Given the description of an element on the screen output the (x, y) to click on. 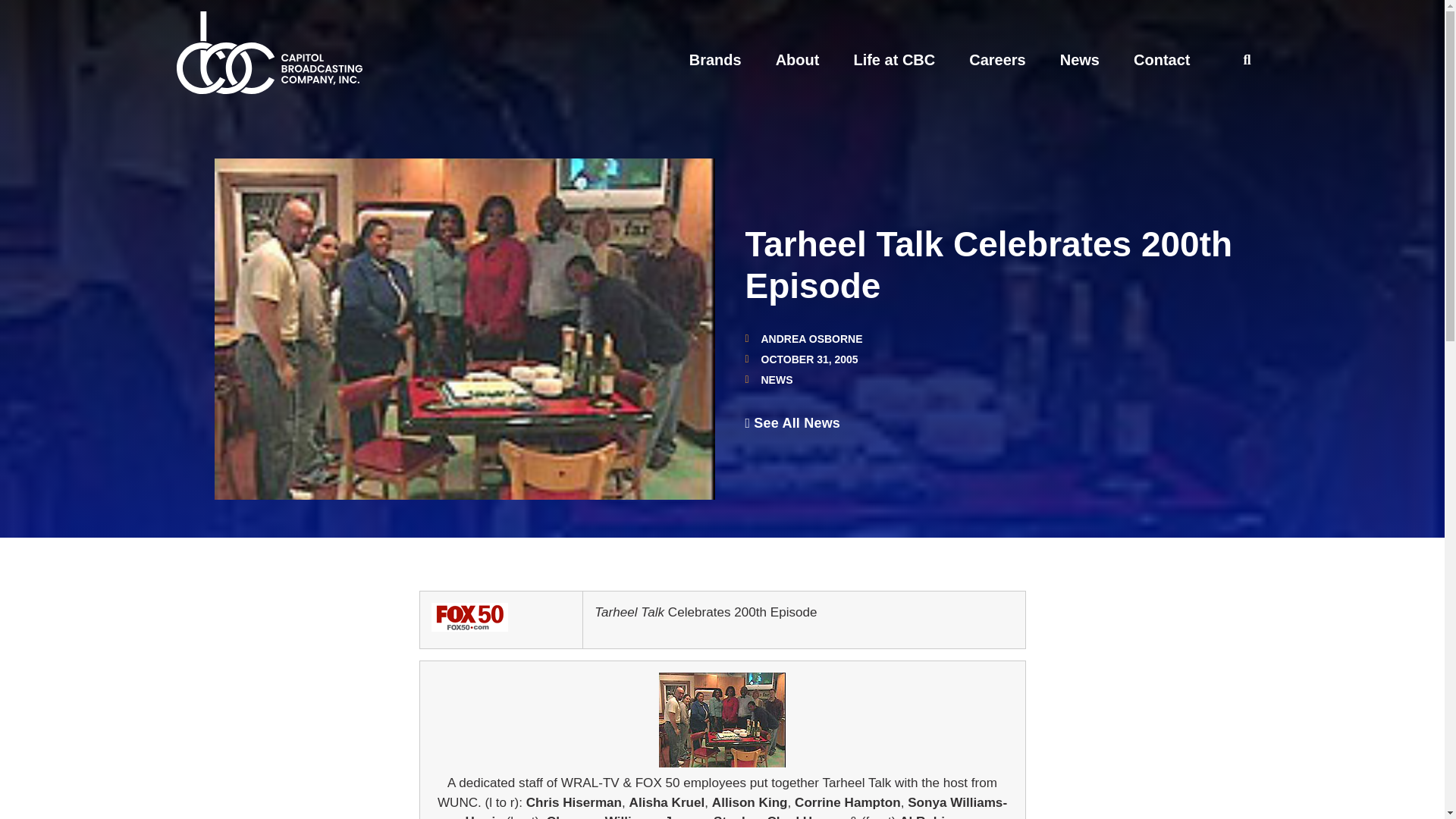
News (1079, 59)
Life at CBC (893, 59)
Brands (714, 59)
Careers (997, 59)
See All News (792, 422)
ANDREA OSBORNE (802, 338)
About (797, 59)
Contact (1161, 59)
OCTOBER 31, 2005 (800, 358)
NEWS (777, 379)
